Given the description of an element on the screen output the (x, y) to click on. 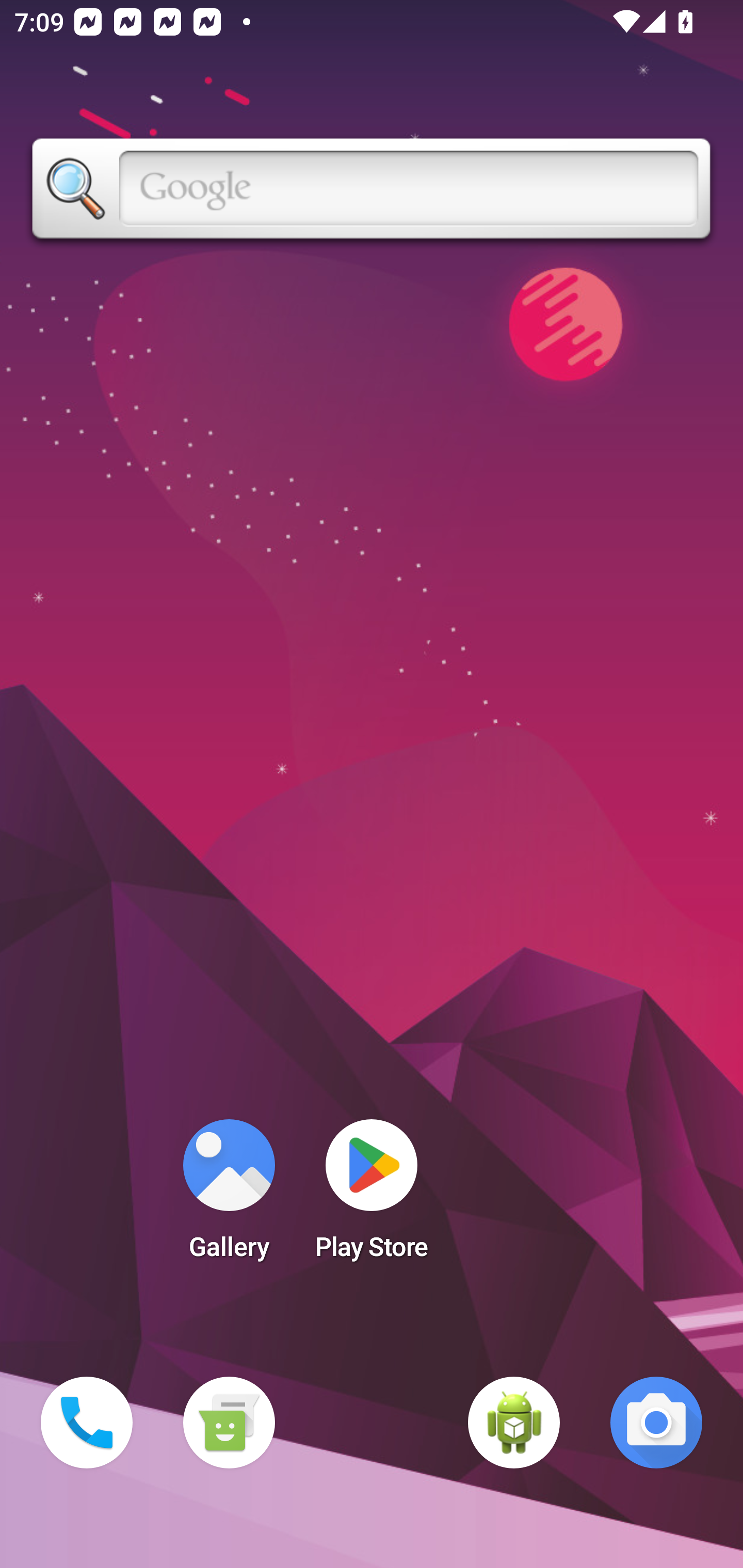
Gallery (228, 1195)
Play Store (371, 1195)
Phone (86, 1422)
Messaging (228, 1422)
WebView Browser Tester (513, 1422)
Camera (656, 1422)
